Given the description of an element on the screen output the (x, y) to click on. 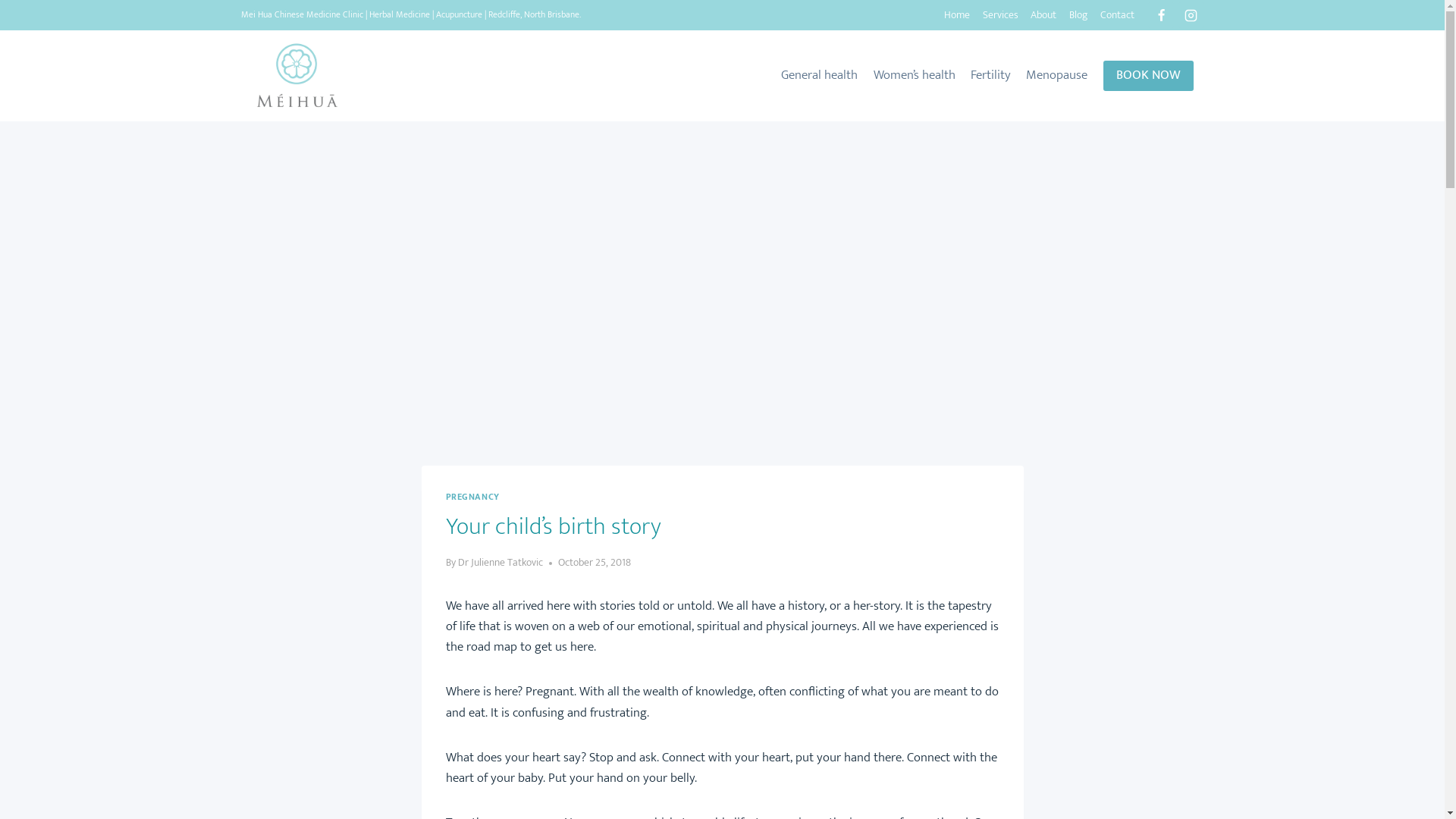
General health Element type: text (819, 75)
PREGNANCY Element type: text (472, 496)
BOOK NOW Element type: text (1147, 75)
Contact Element type: text (1117, 15)
Menopause Element type: text (1056, 75)
Dr Julienne Tatkovic Element type: text (500, 562)
About Element type: text (1043, 15)
Services Element type: text (999, 15)
Fertility Element type: text (990, 75)
Home Element type: text (956, 15)
Blog Element type: text (1078, 15)
